Given the description of an element on the screen output the (x, y) to click on. 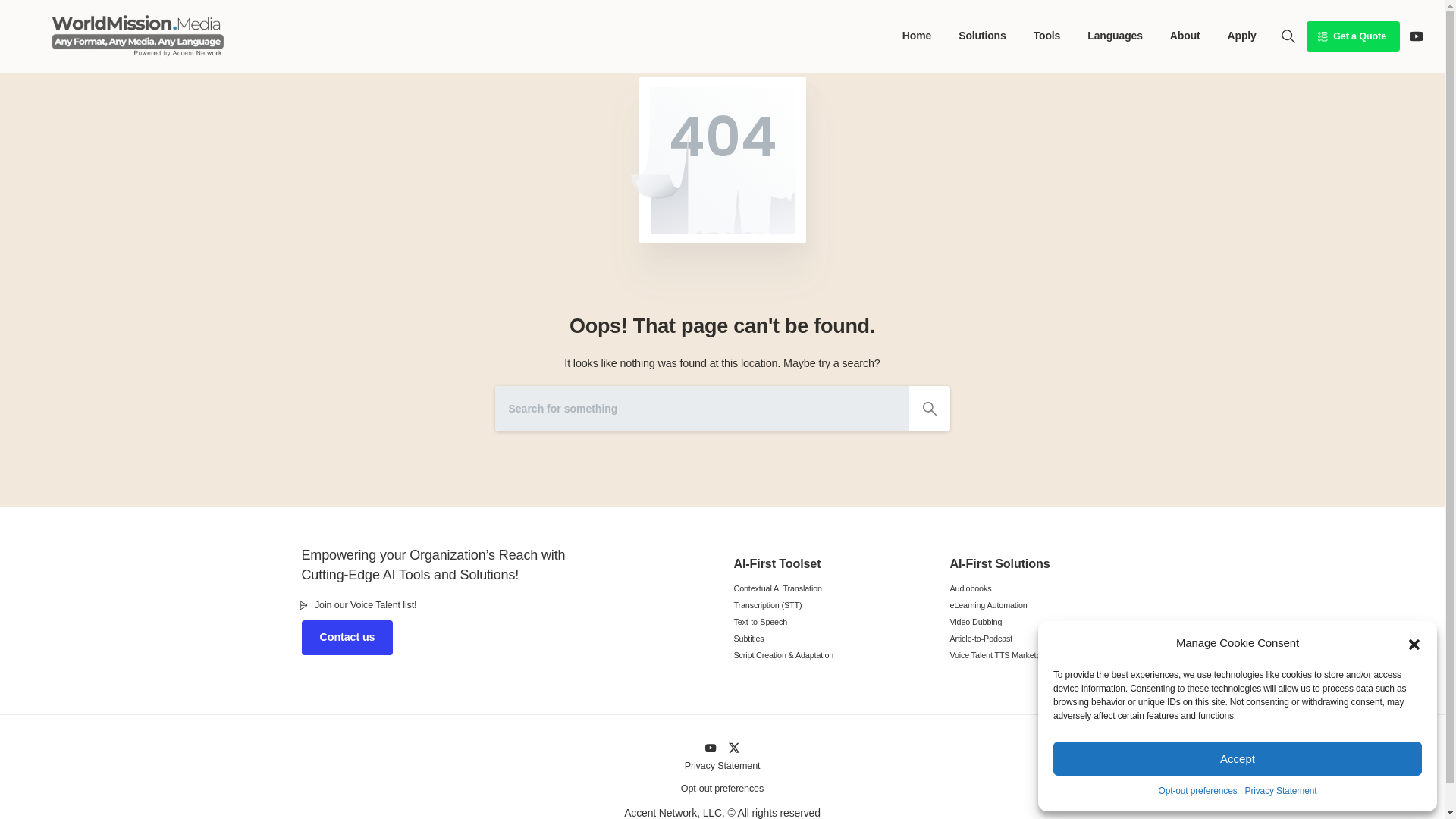
Accept (1237, 758)
Tools (1047, 36)
Subtitles (830, 638)
eLearning Automation (1045, 604)
About (1185, 36)
YouTube (1416, 36)
Text-to-Speech (830, 621)
Apply (1241, 36)
Home (916, 36)
Video Dubbing (1045, 621)
Get a Quote (1352, 36)
Apply (1241, 36)
About (1185, 36)
Audiobooks (1045, 588)
Opt-out preferences (1197, 791)
